Given the description of an element on the screen output the (x, y) to click on. 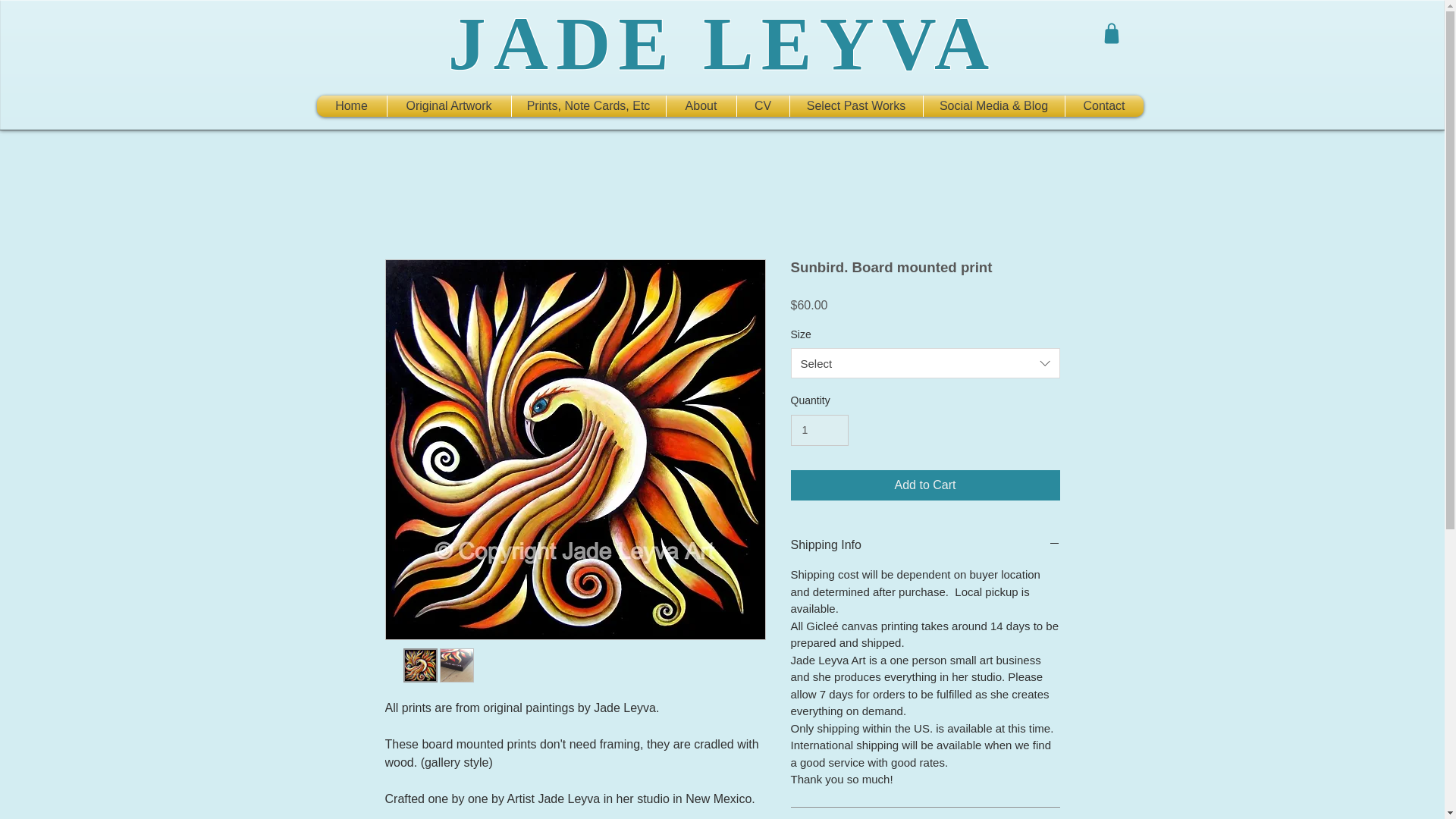
Shipping Info (924, 545)
CV (762, 106)
Select (924, 363)
Prints, Note Cards, Etc (588, 106)
Contact (1103, 106)
Add to Cart (924, 485)
Original Artwork (449, 106)
1 (818, 429)
Home (352, 106)
Select Past Works (856, 106)
About (700, 106)
JADE LEYVA (721, 43)
